Given the description of an element on the screen output the (x, y) to click on. 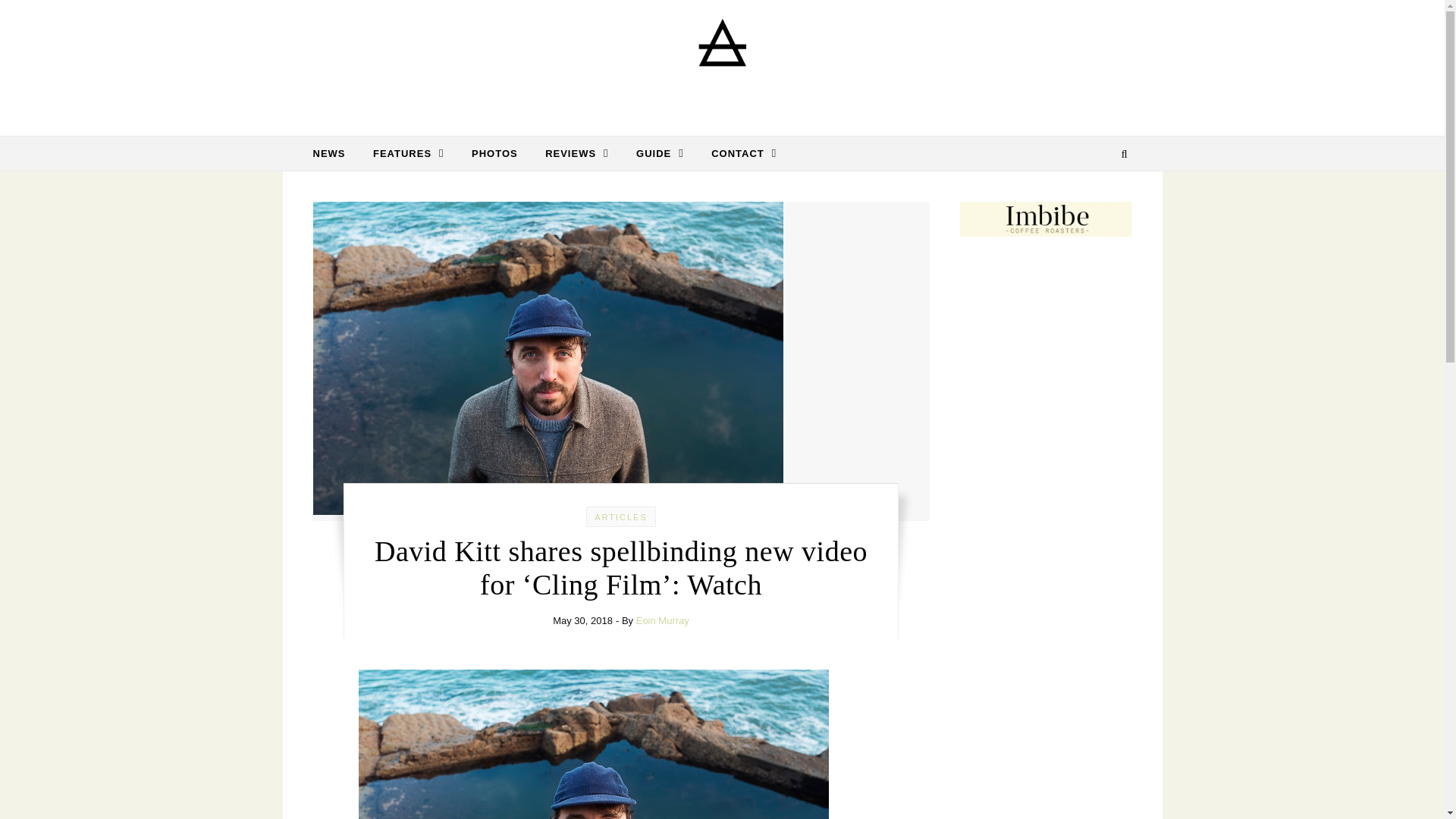
FEATURES (409, 153)
CONTACT (737, 153)
The Thin Air (722, 62)
REVIEWS (576, 153)
PHOTOS (494, 153)
Posts by Eoin Murray (662, 620)
GUIDE (659, 153)
NEWS (334, 153)
